Given the description of an element on the screen output the (x, y) to click on. 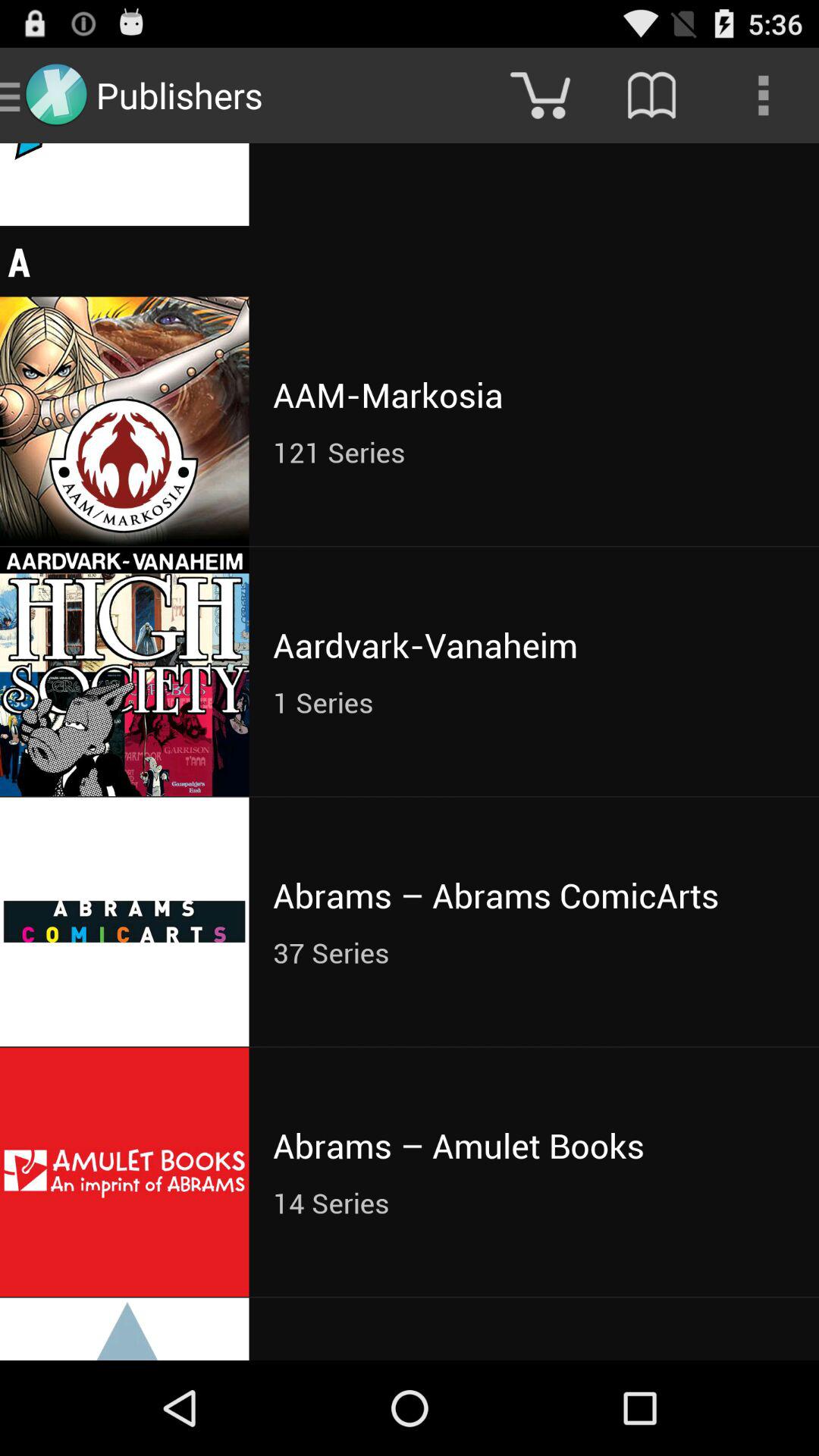
turn off the 16 series (534, 146)
